Given the description of an element on the screen output the (x, y) to click on. 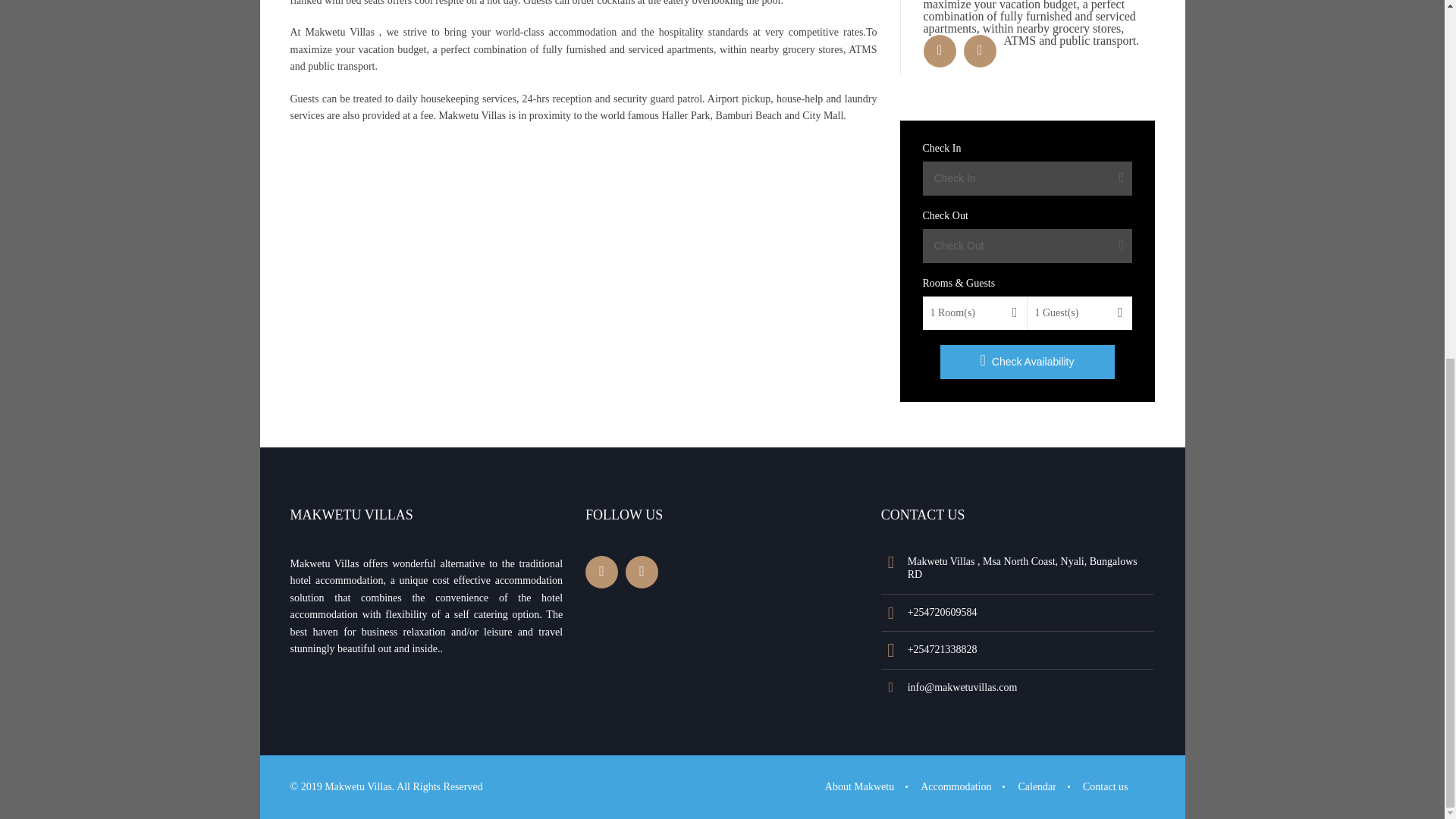
Calendar (1037, 786)
Check Out (1026, 245)
Contact us (1105, 786)
Check In (1026, 178)
About Makwetu (859, 786)
Accommodation (955, 786)
Check Availability (1027, 361)
